Given the description of an element on the screen output the (x, y) to click on. 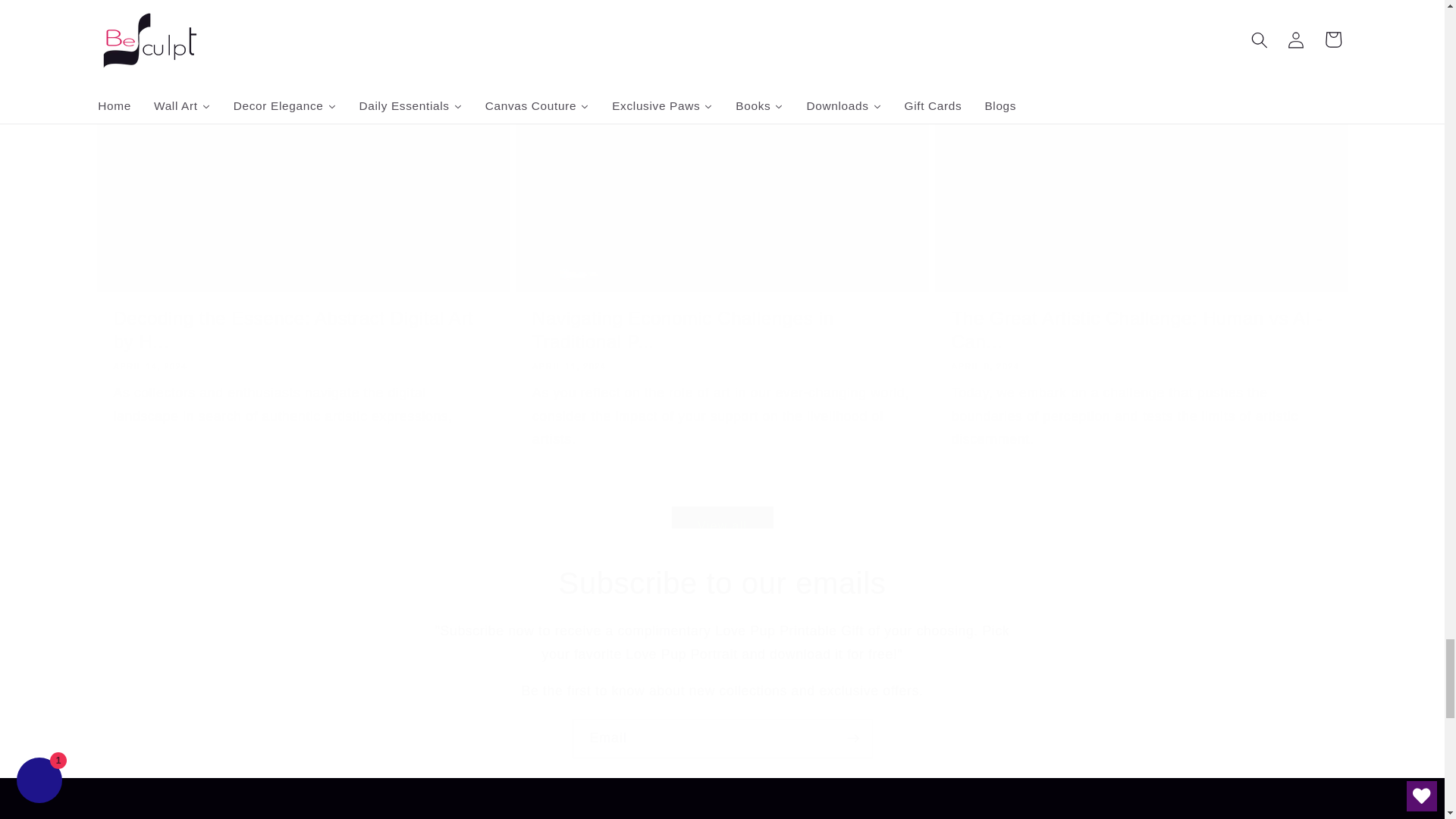
Blog posts (170, 0)
View all (722, 505)
Subscribe to our emails (722, 582)
Email (722, 738)
